Given the description of an element on the screen output the (x, y) to click on. 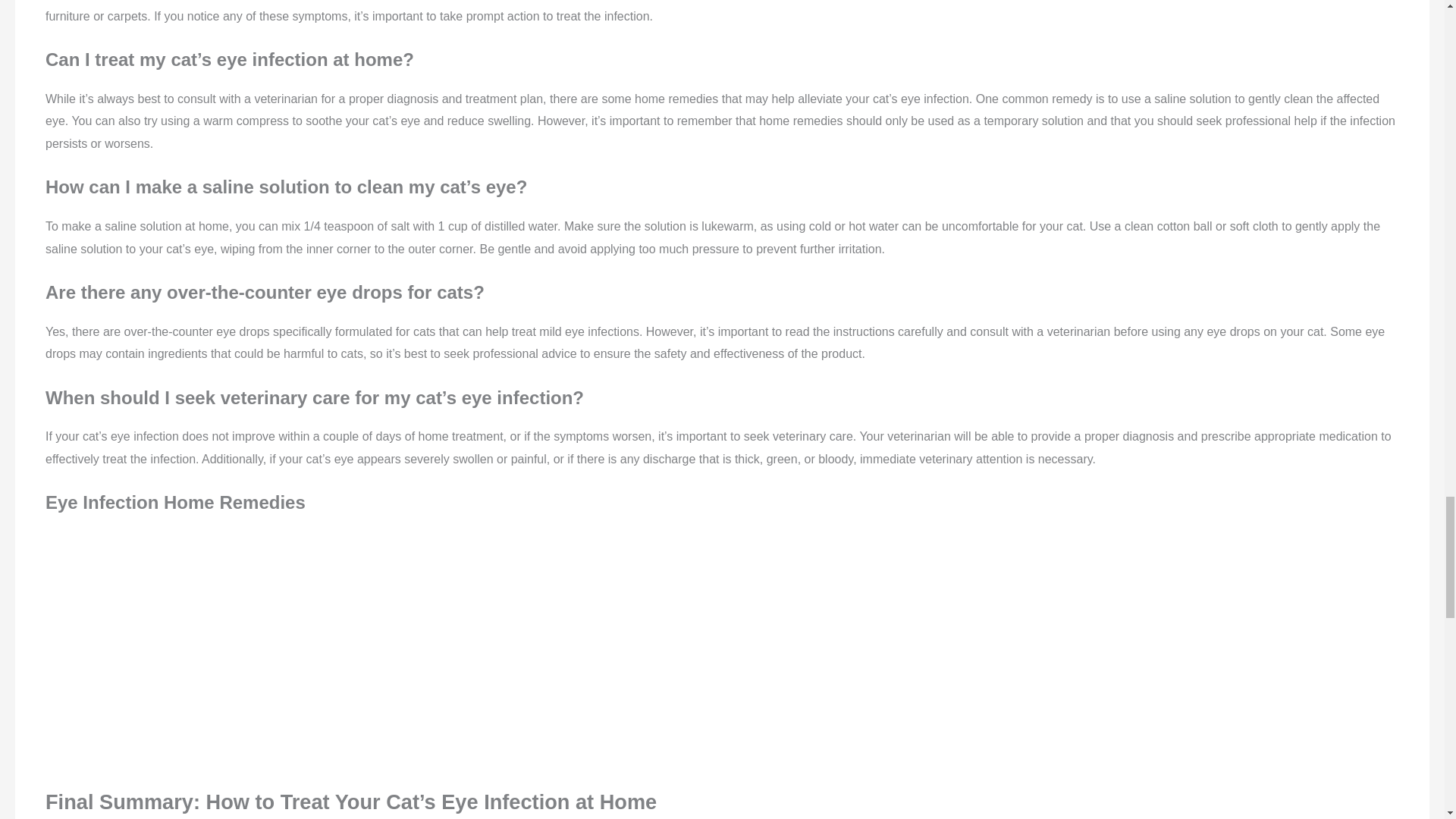
Eye Infection Home Remedies (721, 649)
